Given the description of an element on the screen output the (x, y) to click on. 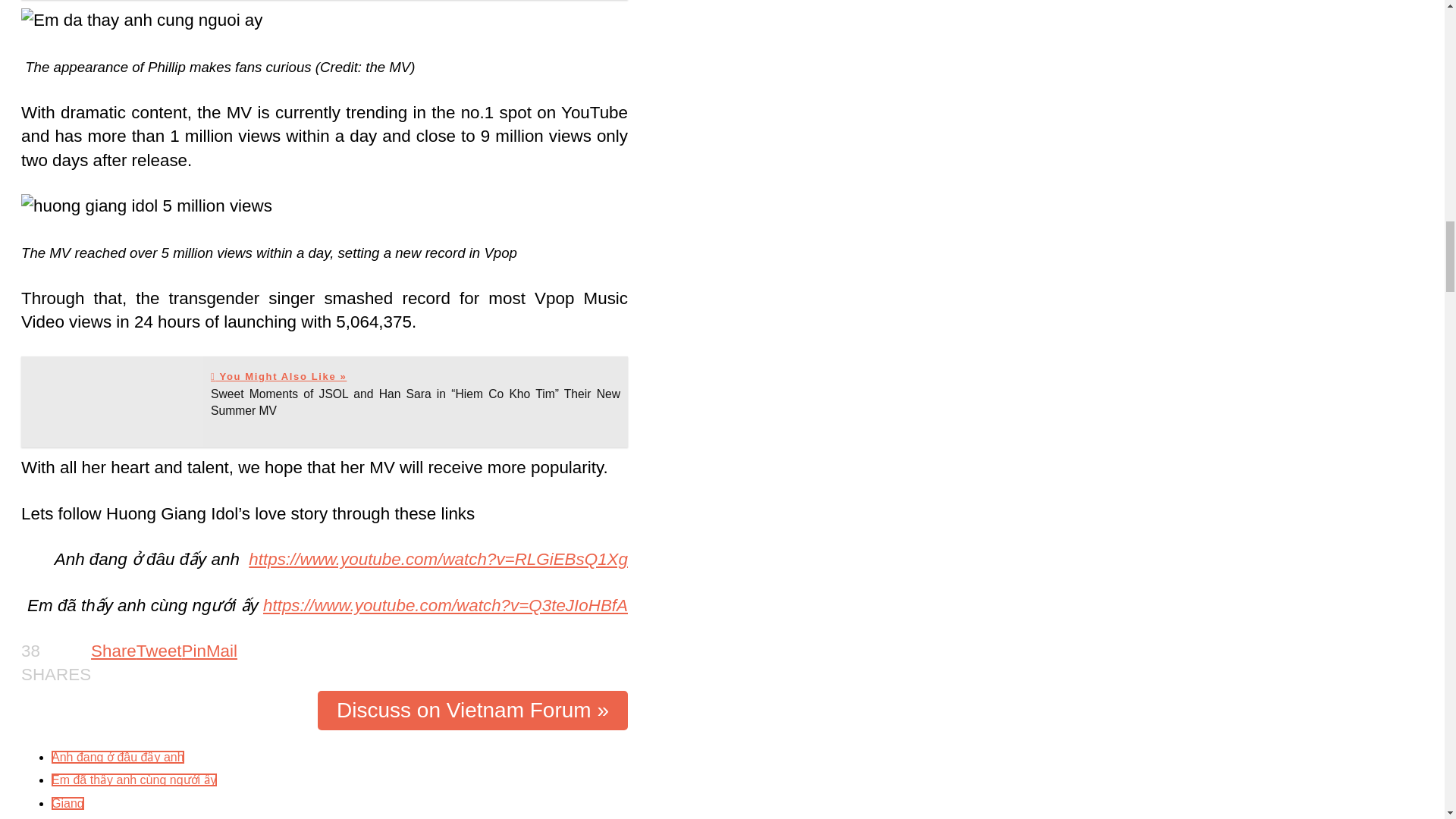
Tweet (159, 650)
Mail (221, 650)
Giang (67, 802)
Share (113, 650)
Pin (194, 650)
